Given the description of an element on the screen output the (x, y) to click on. 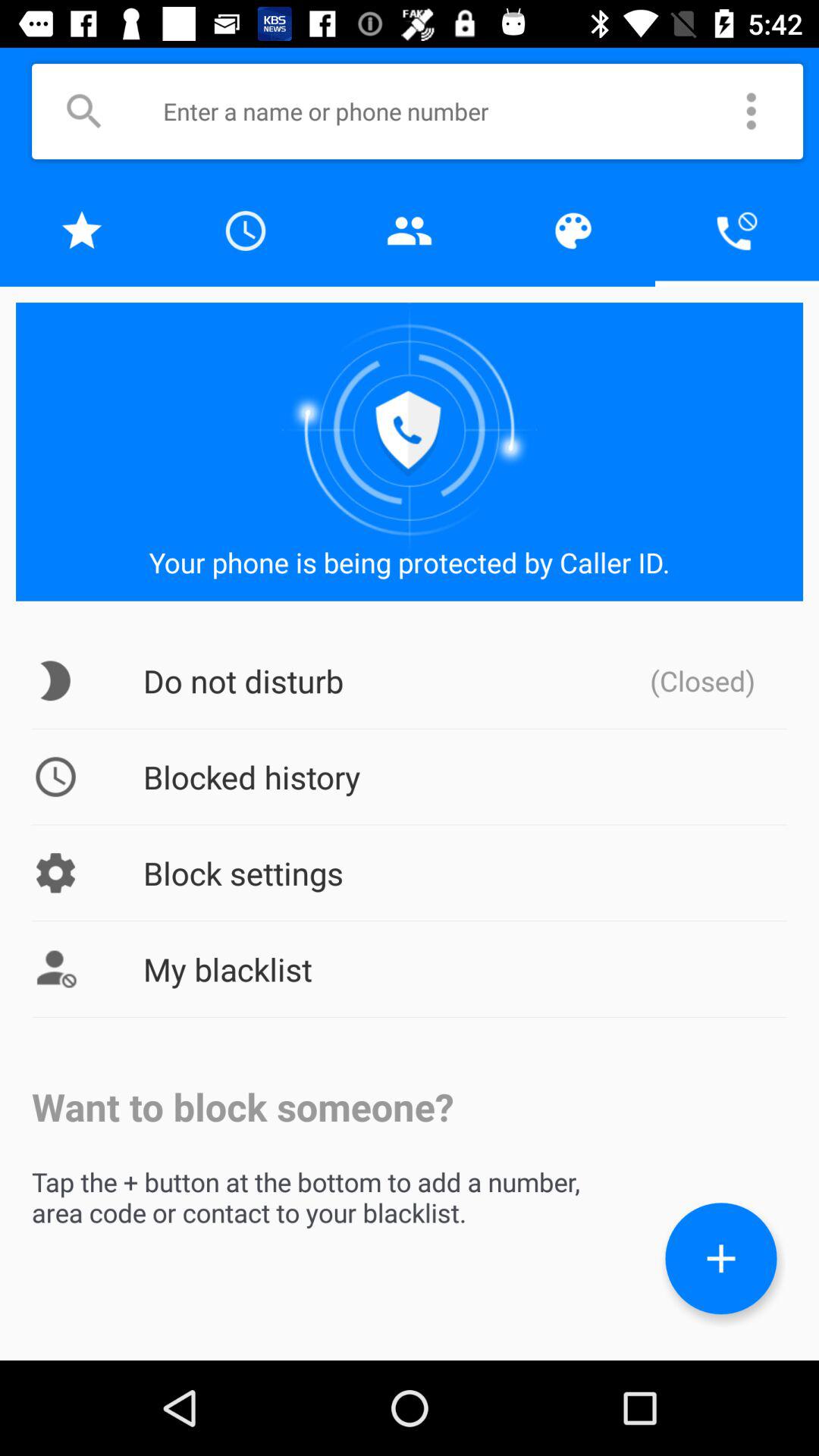
press the app above your phone is item (737, 230)
